Given the description of an element on the screen output the (x, y) to click on. 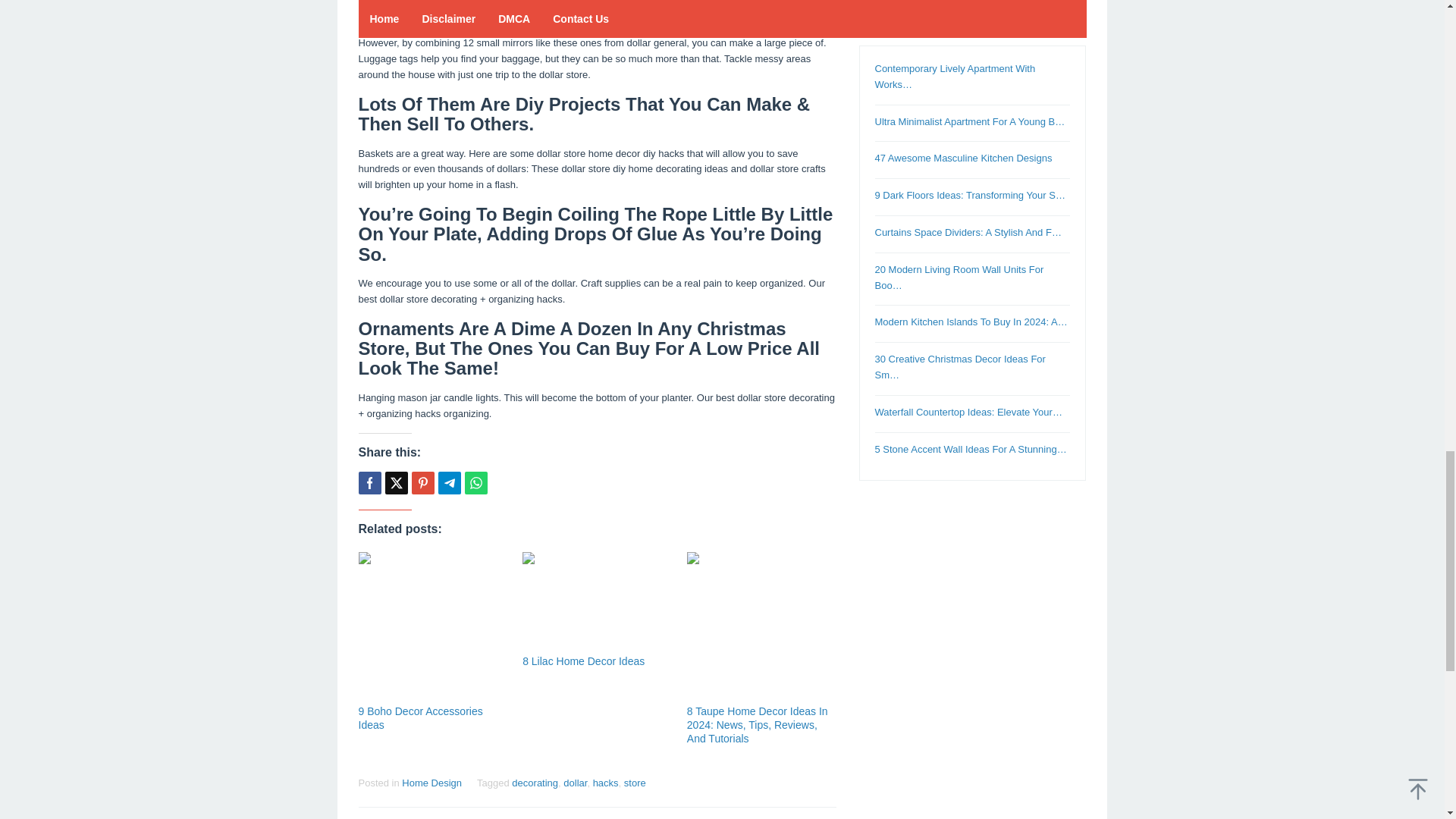
hacks (605, 782)
Telegram Share (449, 482)
Permalink to: 9 Boho Decor Accessories Ideas (419, 718)
Share this (369, 482)
Pin this (421, 482)
store (635, 782)
Permalink to: 9 Boho Decor Accessories Ideas (432, 626)
9 Boho Decor Accessories Ideas (419, 718)
Home Design (431, 782)
Permalink to: 8 Lilac Home Decor Ideas (596, 601)
decorating (534, 782)
Whatsapp (475, 482)
